Given the description of an element on the screen output the (x, y) to click on. 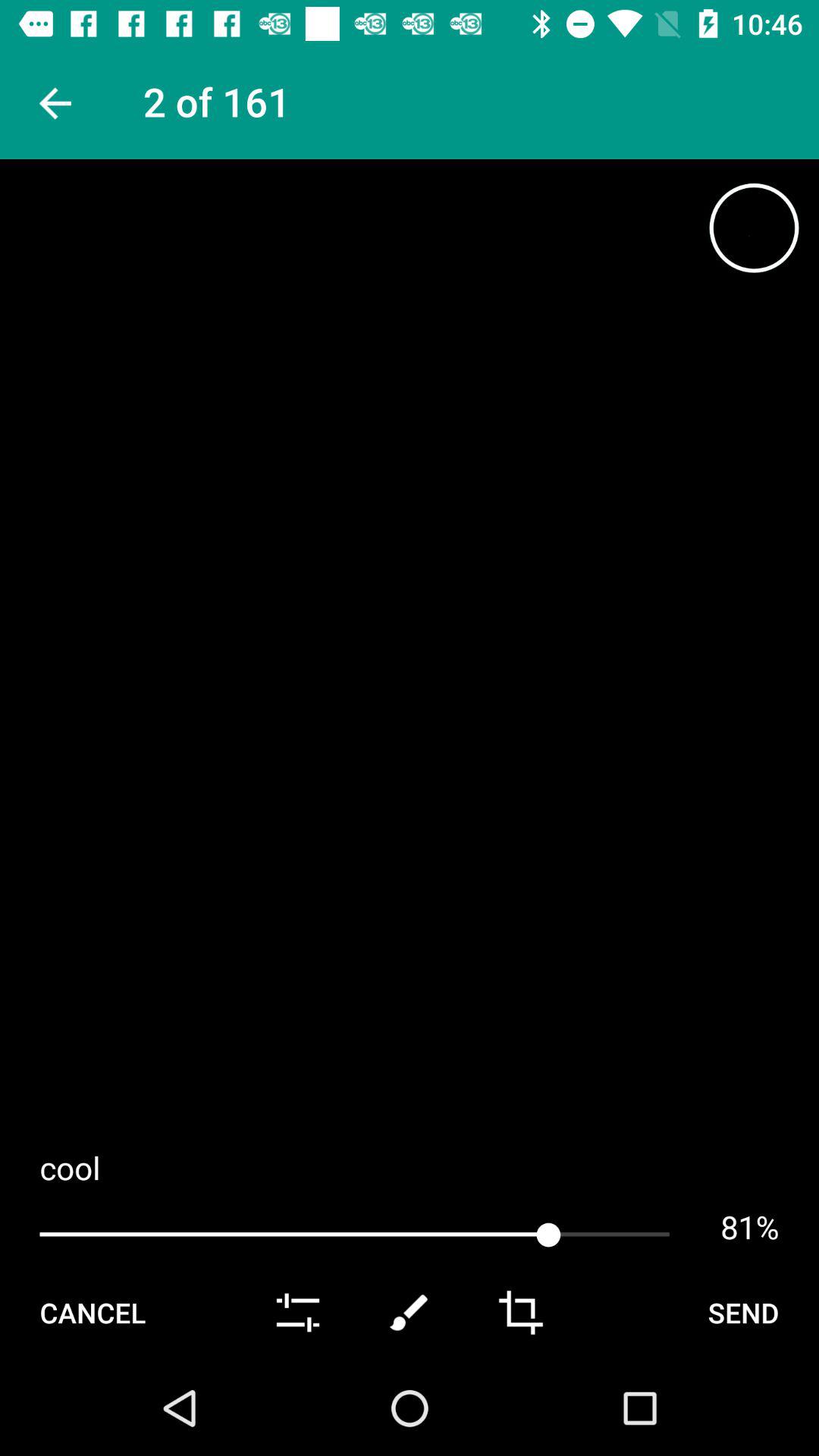
crop icon (520, 1312)
